Given the description of an element on the screen output the (x, y) to click on. 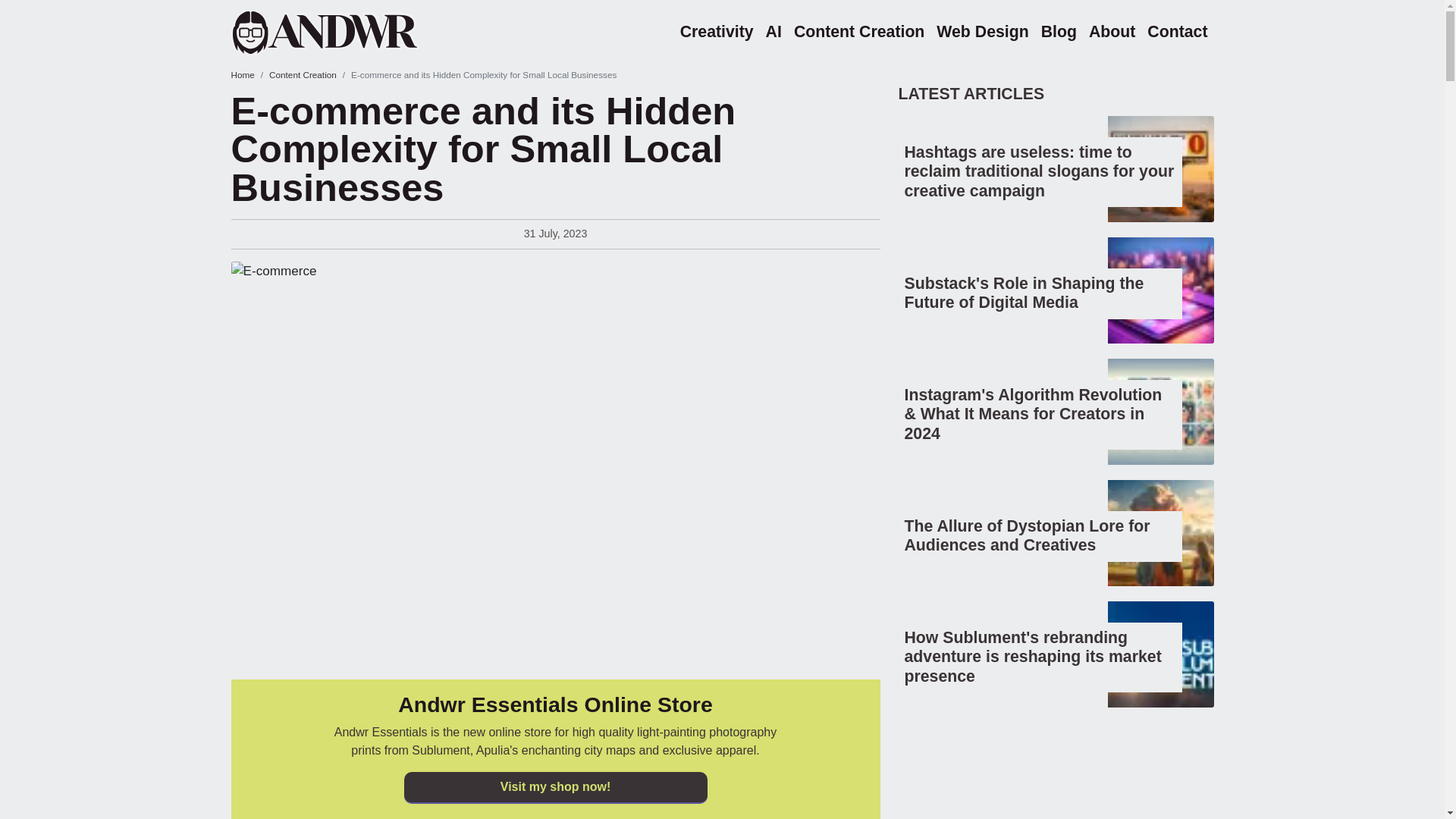
Contact (1176, 32)
Blog (1059, 32)
Visit my shop now! (554, 787)
Substack's Role in Shaping the Future of Digital Media (1024, 293)
Home (344, 31)
Home (241, 74)
About (1112, 32)
Web Design (981, 32)
Content Creation (302, 74)
